Given the description of an element on the screen output the (x, y) to click on. 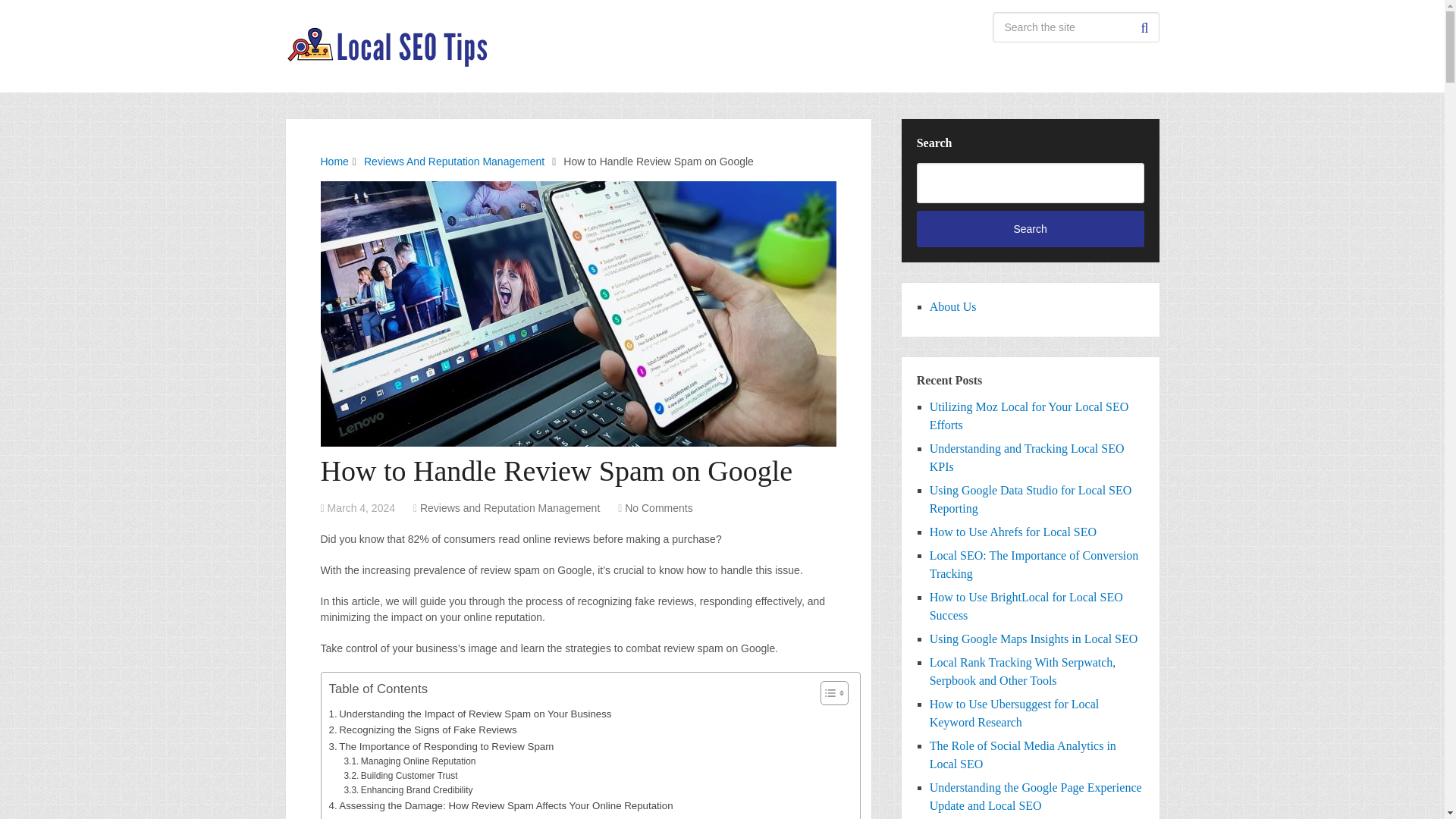
Strategies for Handling Review Spam on Google (442, 816)
Understanding the Impact of Review Spam on Your Business (470, 713)
The Importance of Responding to Review Spam (441, 746)
Search (1143, 27)
Managing Online Reputation (409, 761)
Building Customer Trust (400, 775)
Enhancing Brand Credibility (407, 789)
Understanding the Impact of Review Spam on Your Business (470, 713)
Reviews and Reputation Management (509, 508)
Strategies for Handling Review Spam on Google (442, 816)
